Given the description of an element on the screen output the (x, y) to click on. 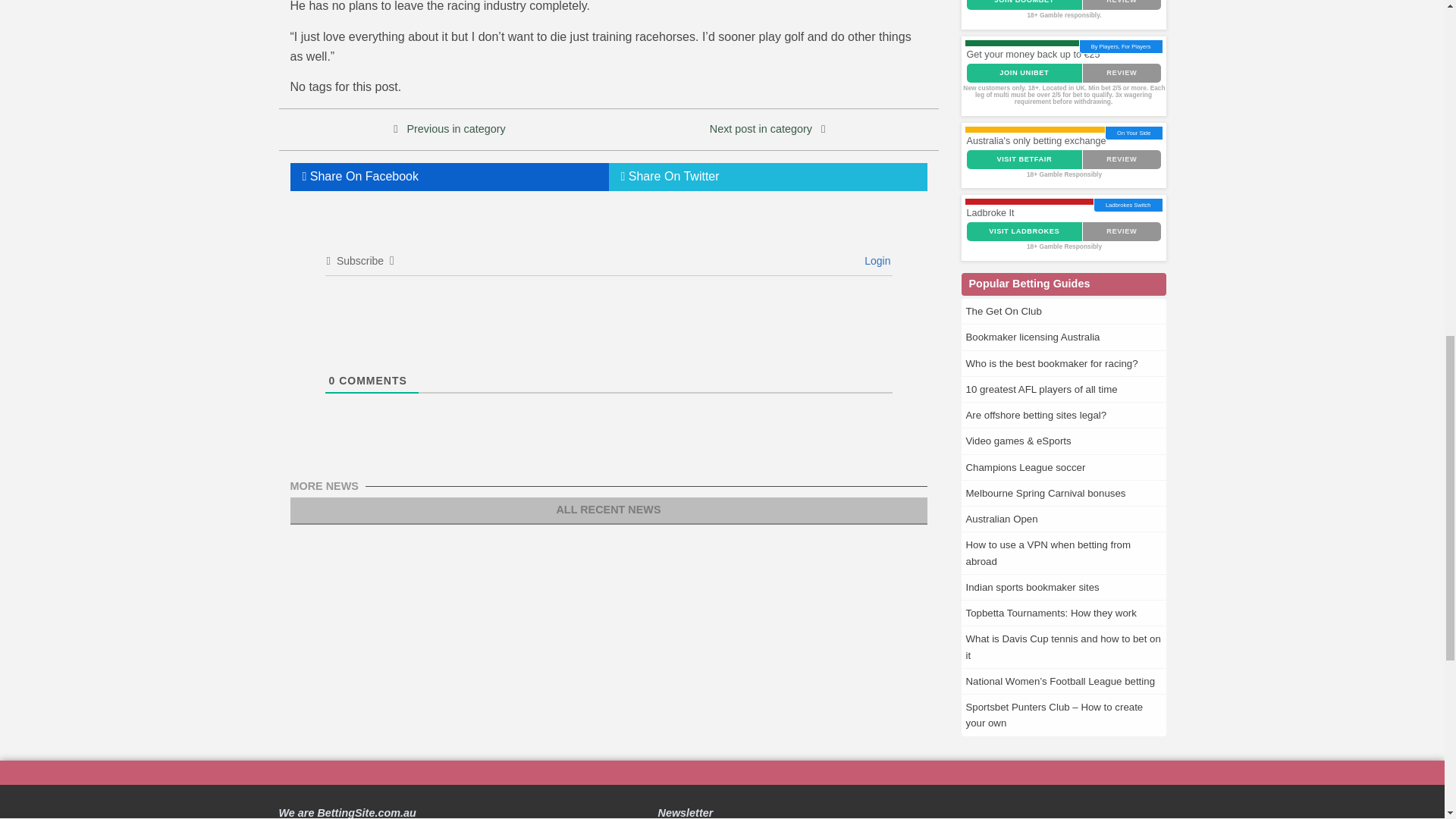
Previous in category (455, 128)
Next post in category (761, 128)
Login (874, 260)
Share On Facebook (448, 176)
Share On Twitter (767, 176)
